Given the description of an element on the screen output the (x, y) to click on. 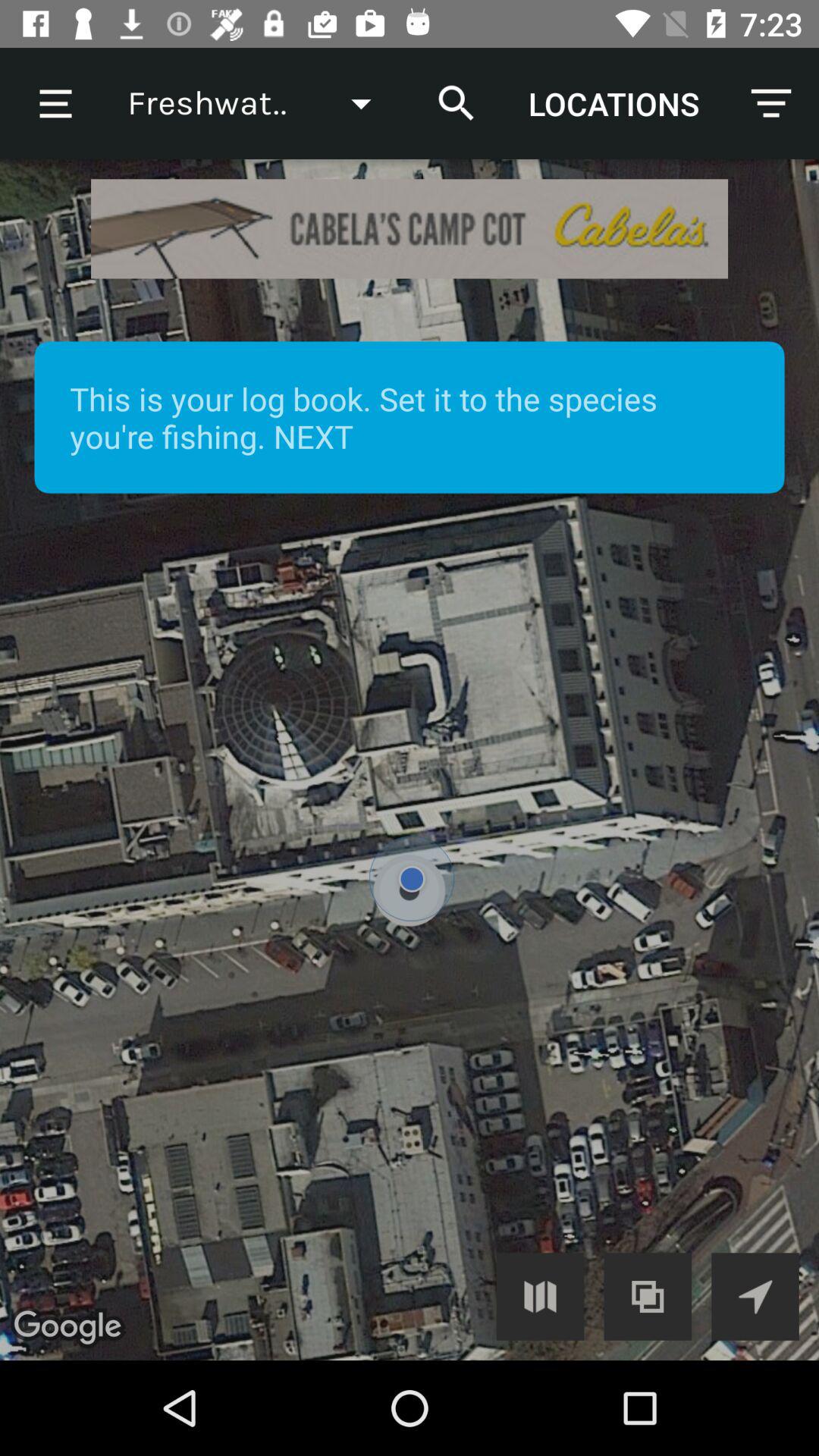
location centering (755, 1296)
